Given the description of an element on the screen output the (x, y) to click on. 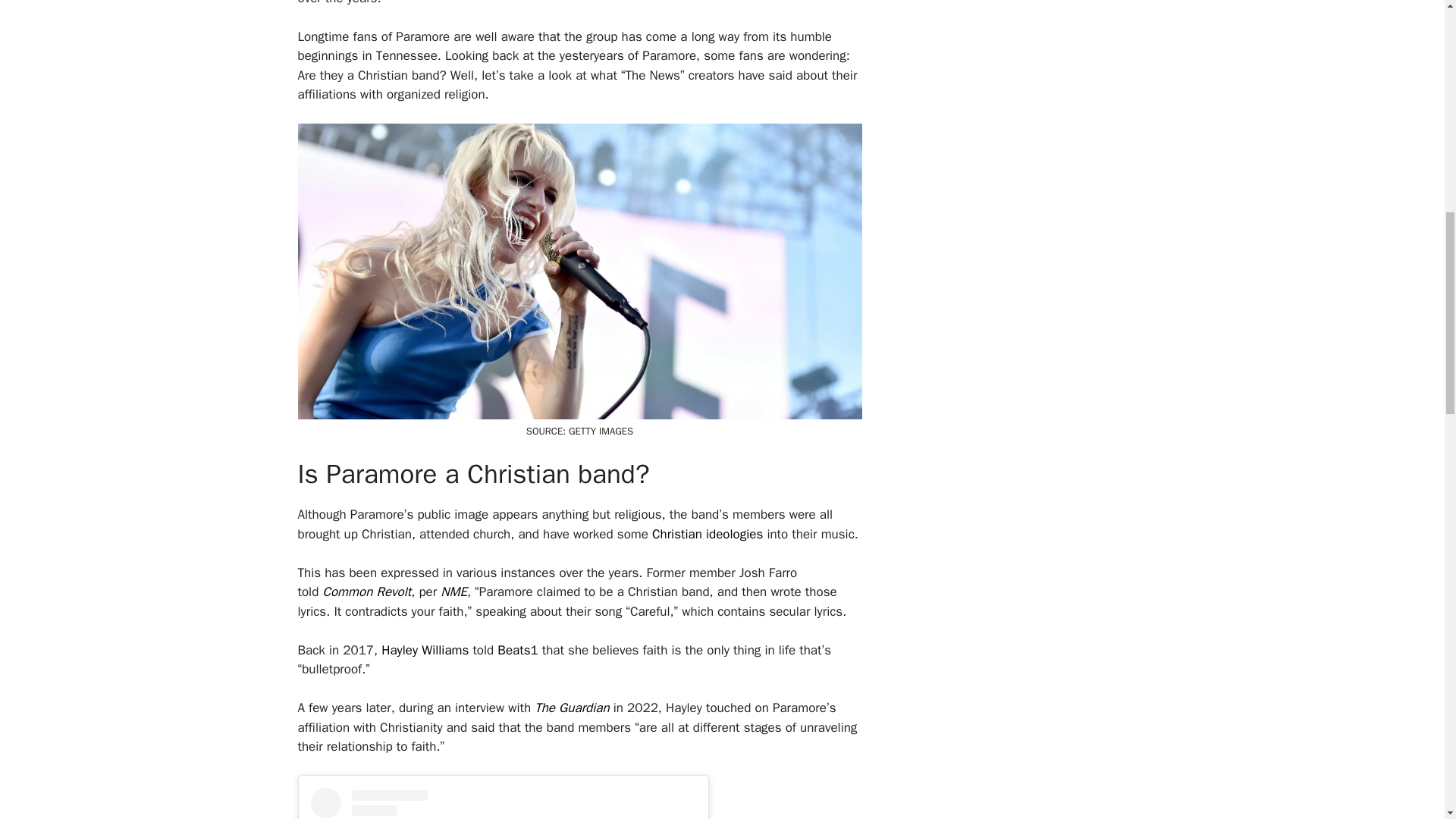
NME (454, 591)
Hayley Williams (426, 650)
Beats1 (517, 650)
Christian ideologies (707, 534)
Common Revolt (365, 591)
View this post on Instagram (503, 803)
The Guardian (571, 707)
